Given the description of an element on the screen output the (x, y) to click on. 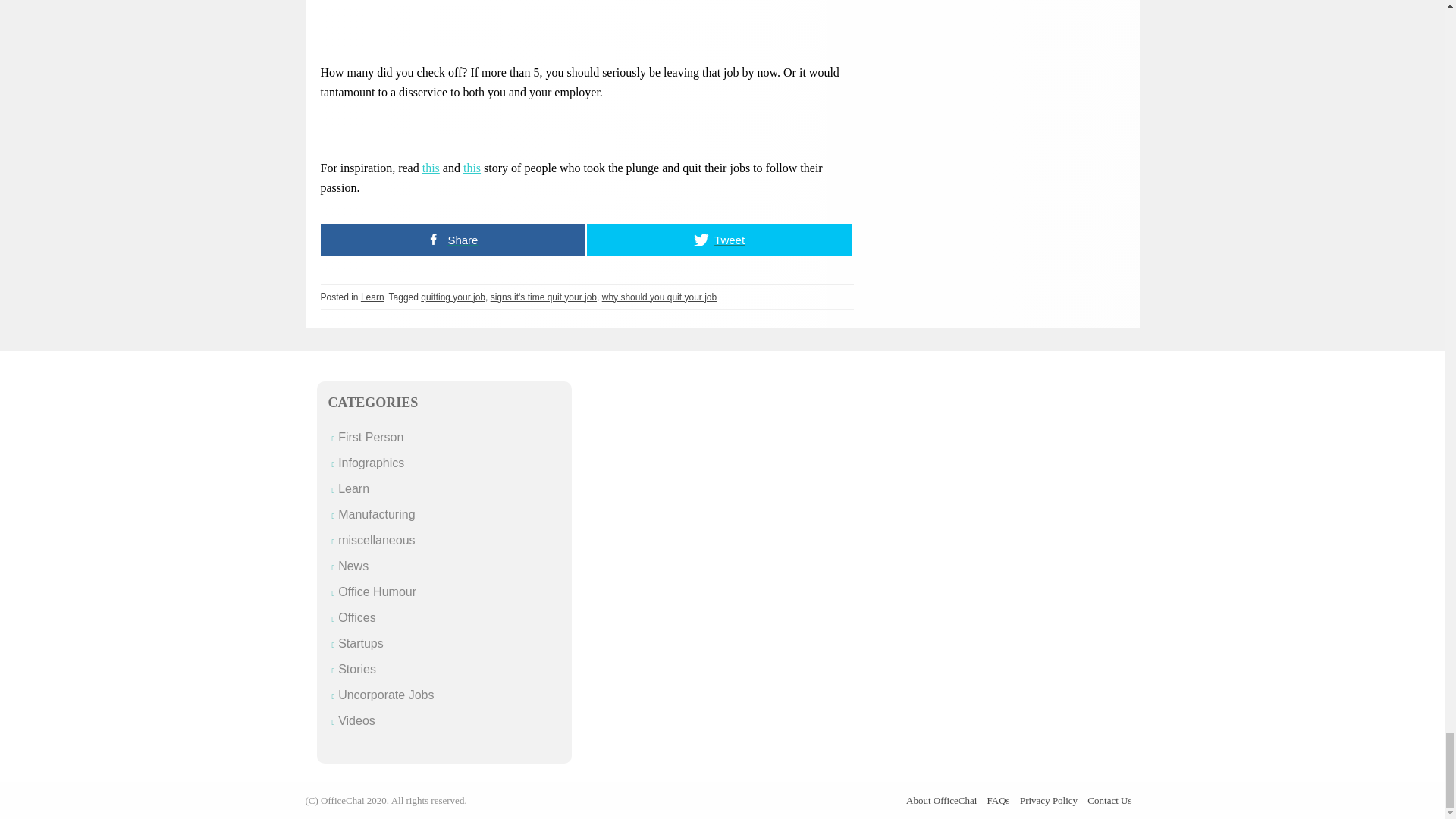
this (430, 166)
Share (452, 238)
this (471, 166)
